Given the description of an element on the screen output the (x, y) to click on. 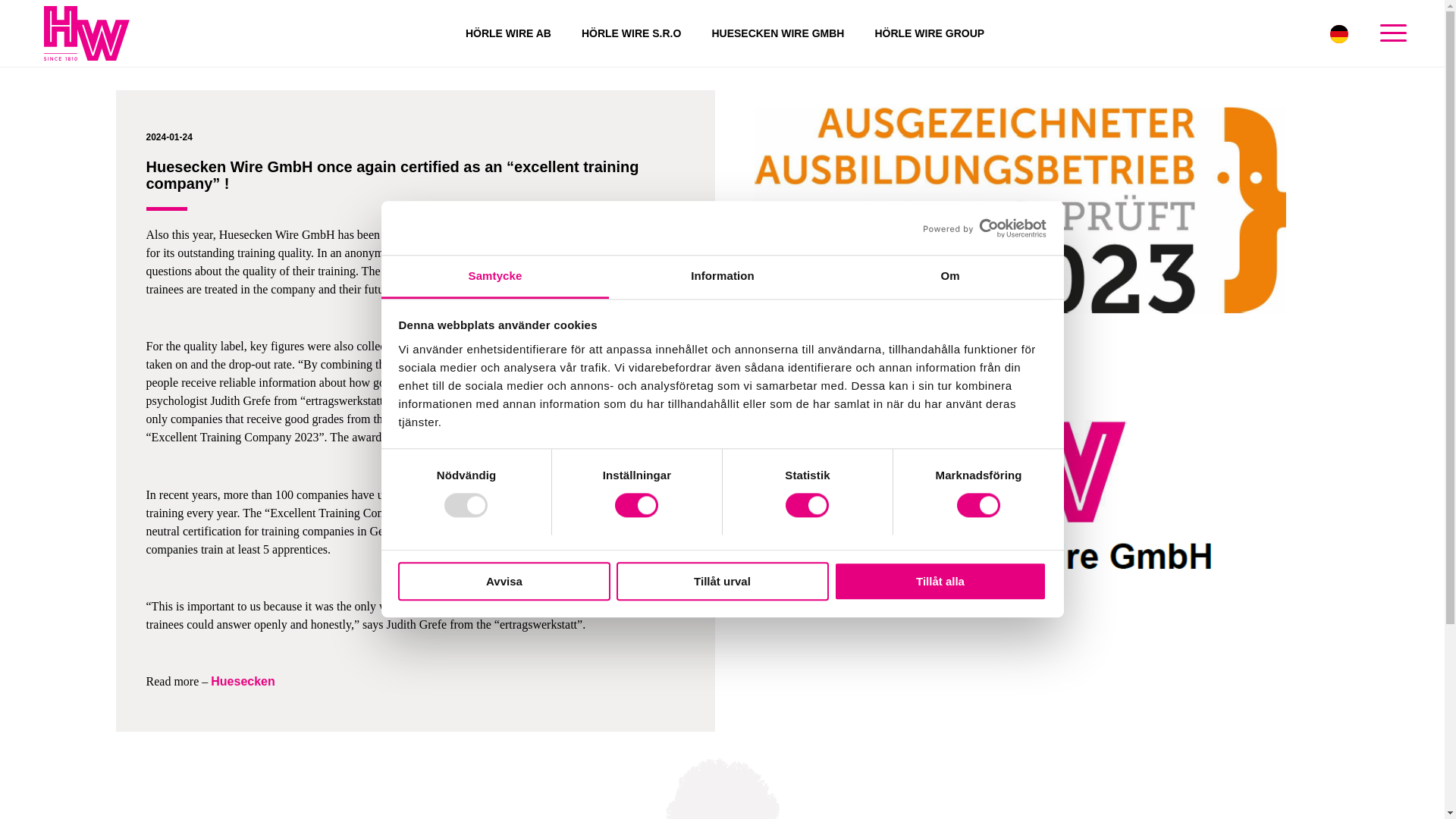
Avvisa (503, 580)
Information (721, 276)
Samtycke (494, 276)
Om (948, 276)
